Given the description of an element on the screen output the (x, y) to click on. 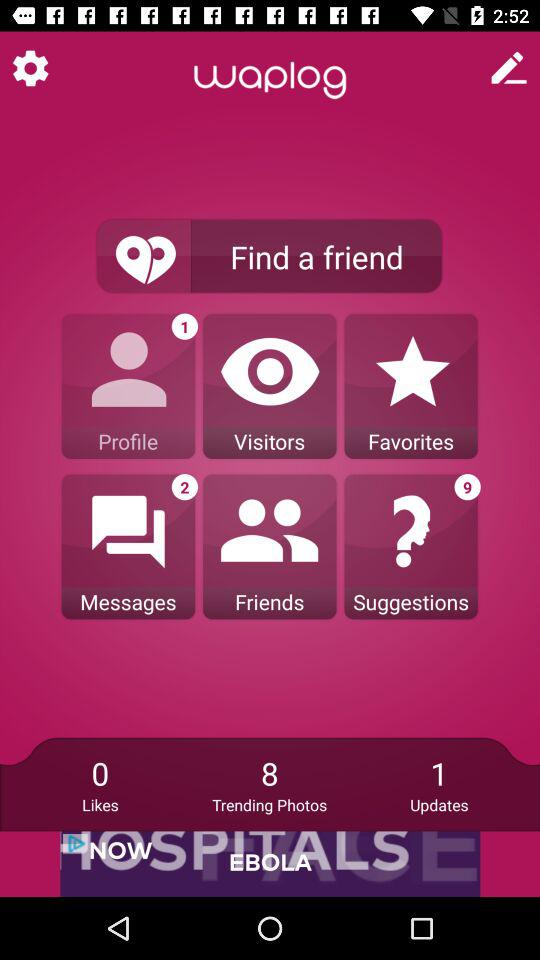
create new (509, 68)
